Given the description of an element on the screen output the (x, y) to click on. 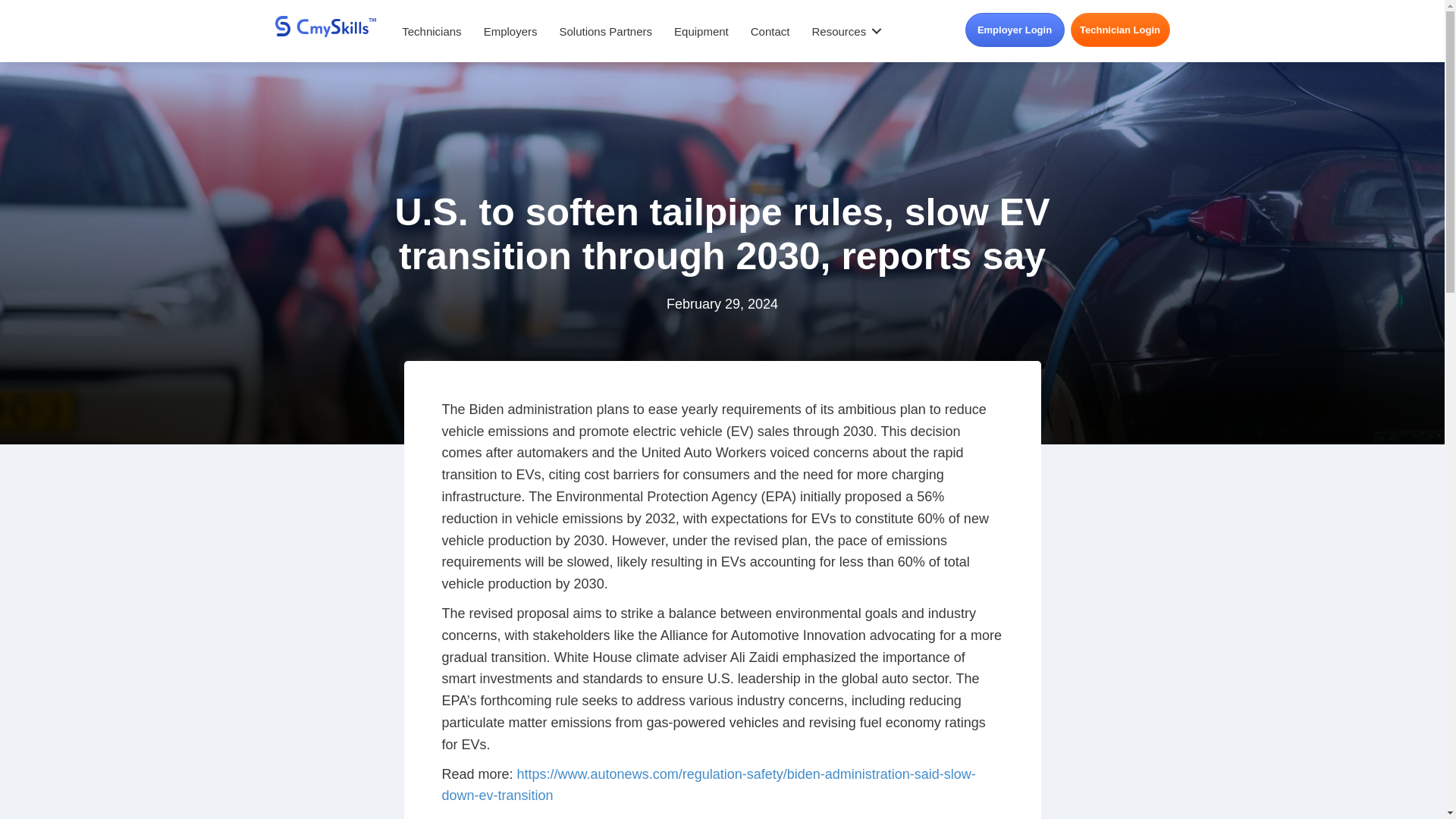
Equipment (701, 31)
CmySkills-Logo-color-TM (325, 25)
Solutions Partners (605, 31)
Resources (843, 31)
Employers (510, 31)
Technicians (431, 31)
Technician Login (1120, 29)
Employer Login (1013, 29)
Contact (769, 31)
